Given the description of an element on the screen output the (x, y) to click on. 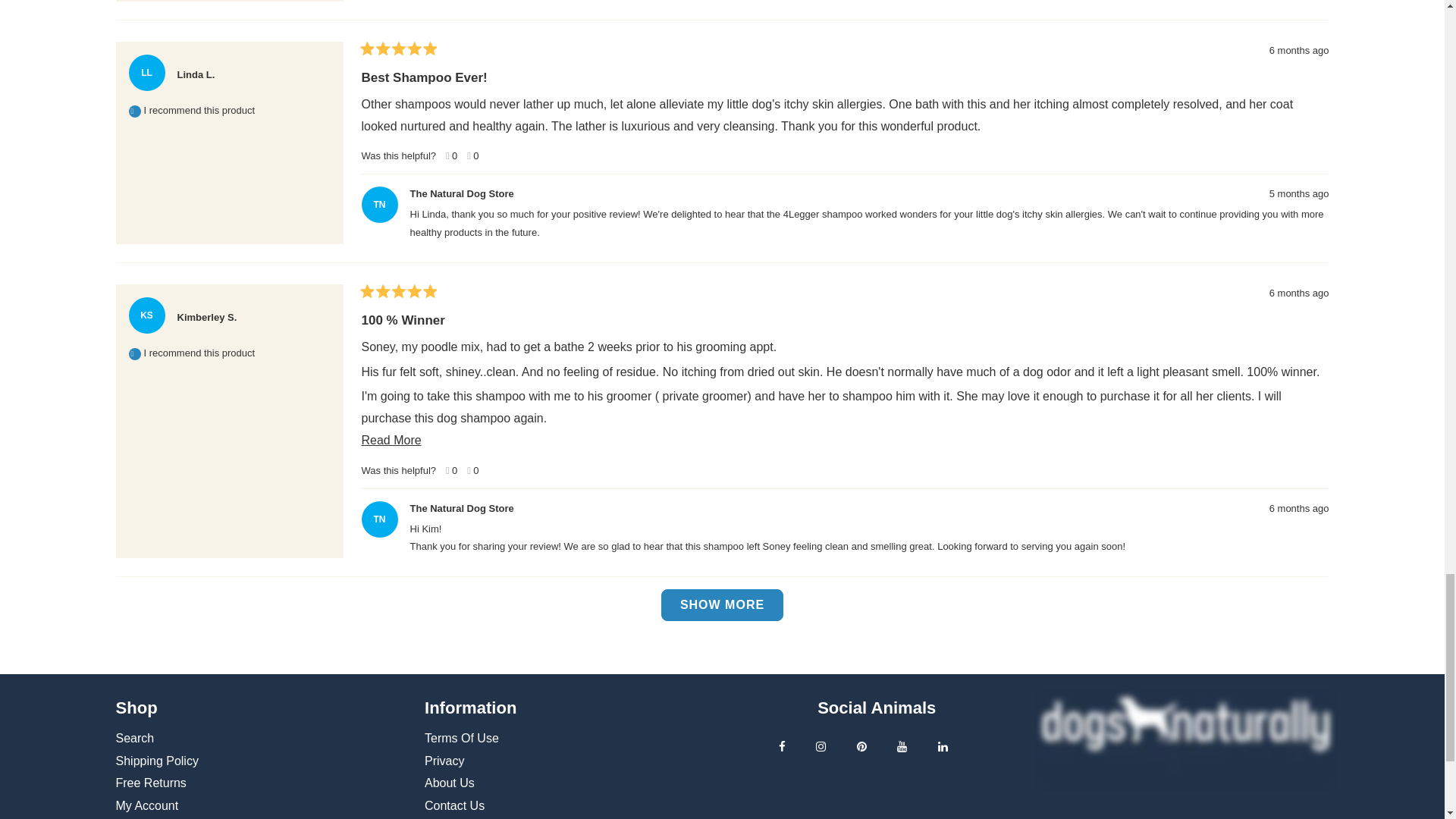
from United States (226, 69)
from United States (248, 311)
